Given the description of an element on the screen output the (x, y) to click on. 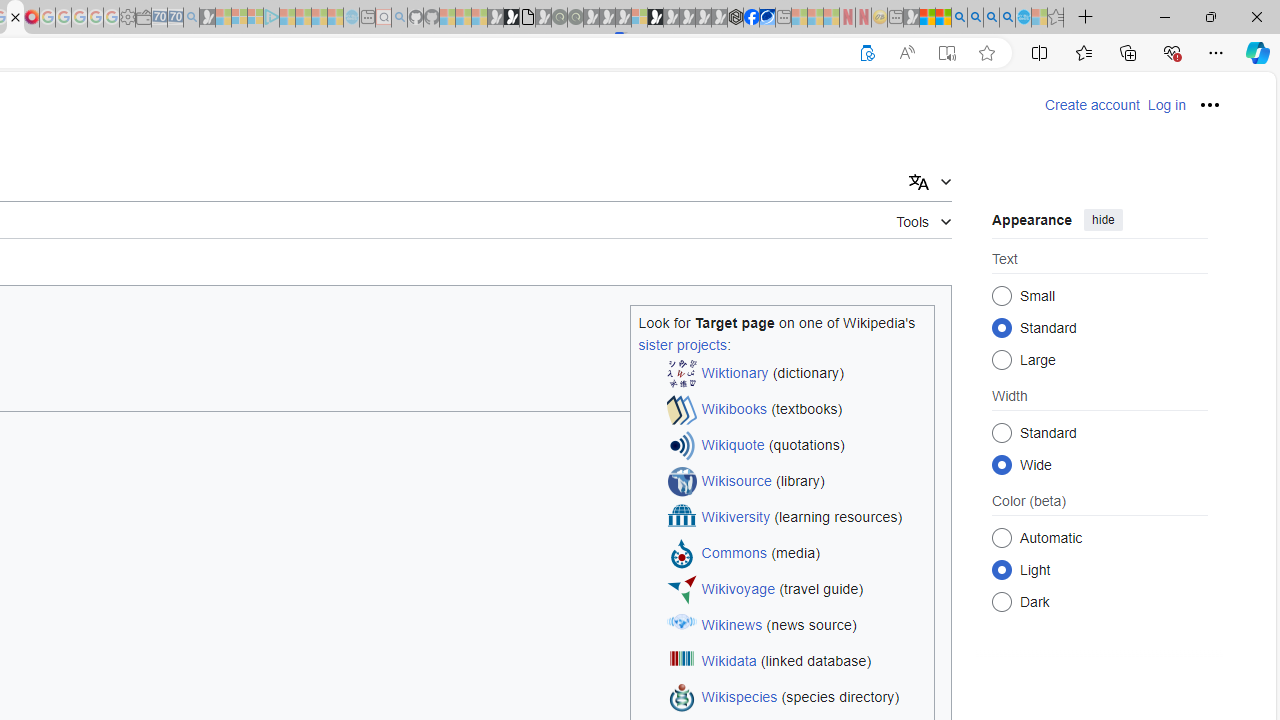
2009 Bing officially replaced Live Search on June 3 - Search (975, 17)
Wikivoyage (travel guide) (796, 590)
Wikidata (linked database) (796, 662)
Wikiquote (733, 445)
Light (1002, 569)
Standard (1002, 431)
Dark (1002, 601)
